Given the description of an element on the screen output the (x, y) to click on. 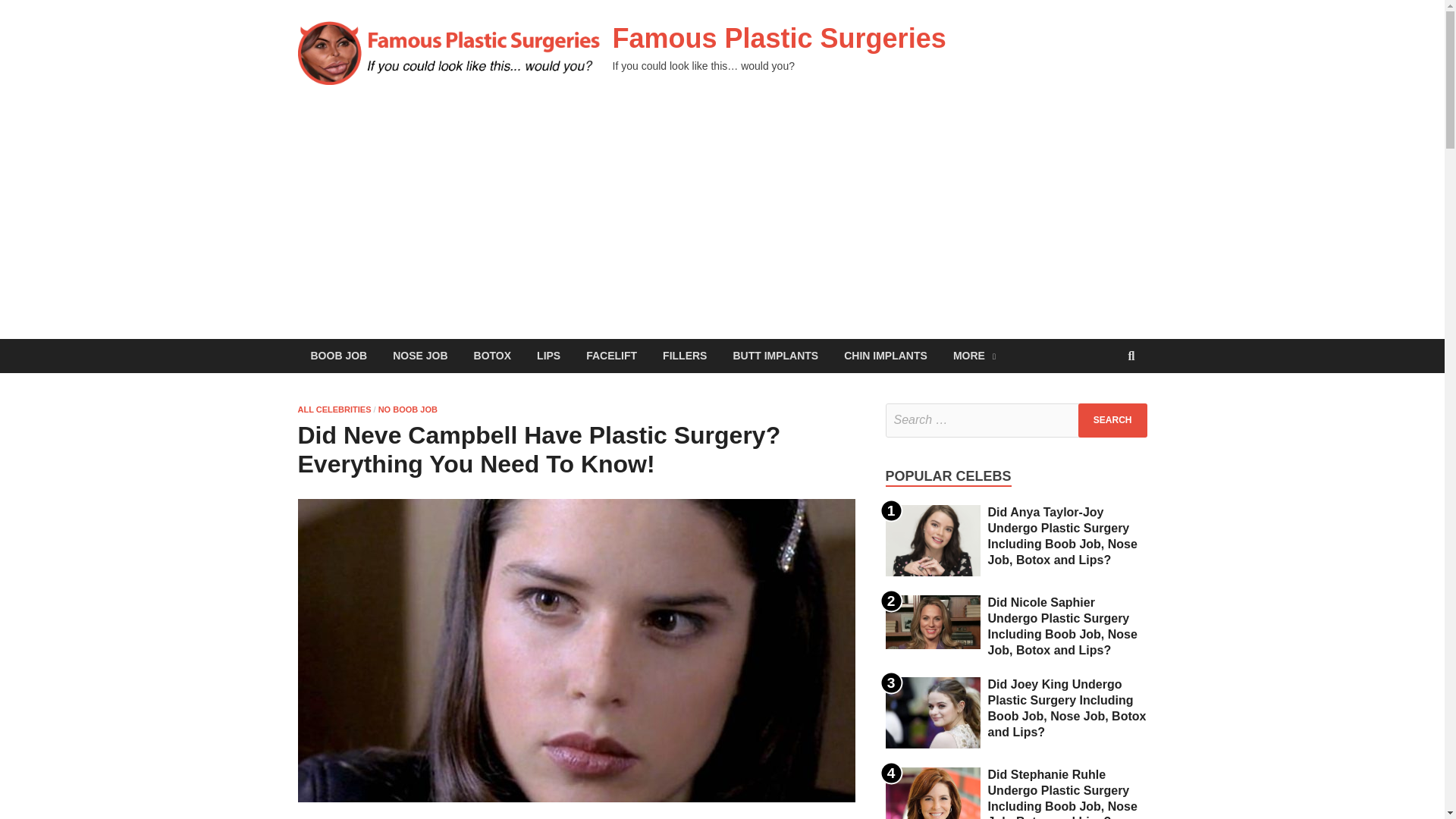
BOOB JOB (338, 356)
MORE (974, 356)
FACELIFT (611, 356)
NO BOOB JOB (408, 409)
ALL CELEBRITIES (334, 409)
BUTT IMPLANTS (775, 356)
Search (1112, 420)
CHIN IMPLANTS (885, 356)
Famous Plastic Surgeries (779, 38)
FILLERS (684, 356)
NOSE JOB (420, 356)
LIPS (548, 356)
BOTOX (492, 356)
Search (1112, 420)
